Given the description of an element on the screen output the (x, y) to click on. 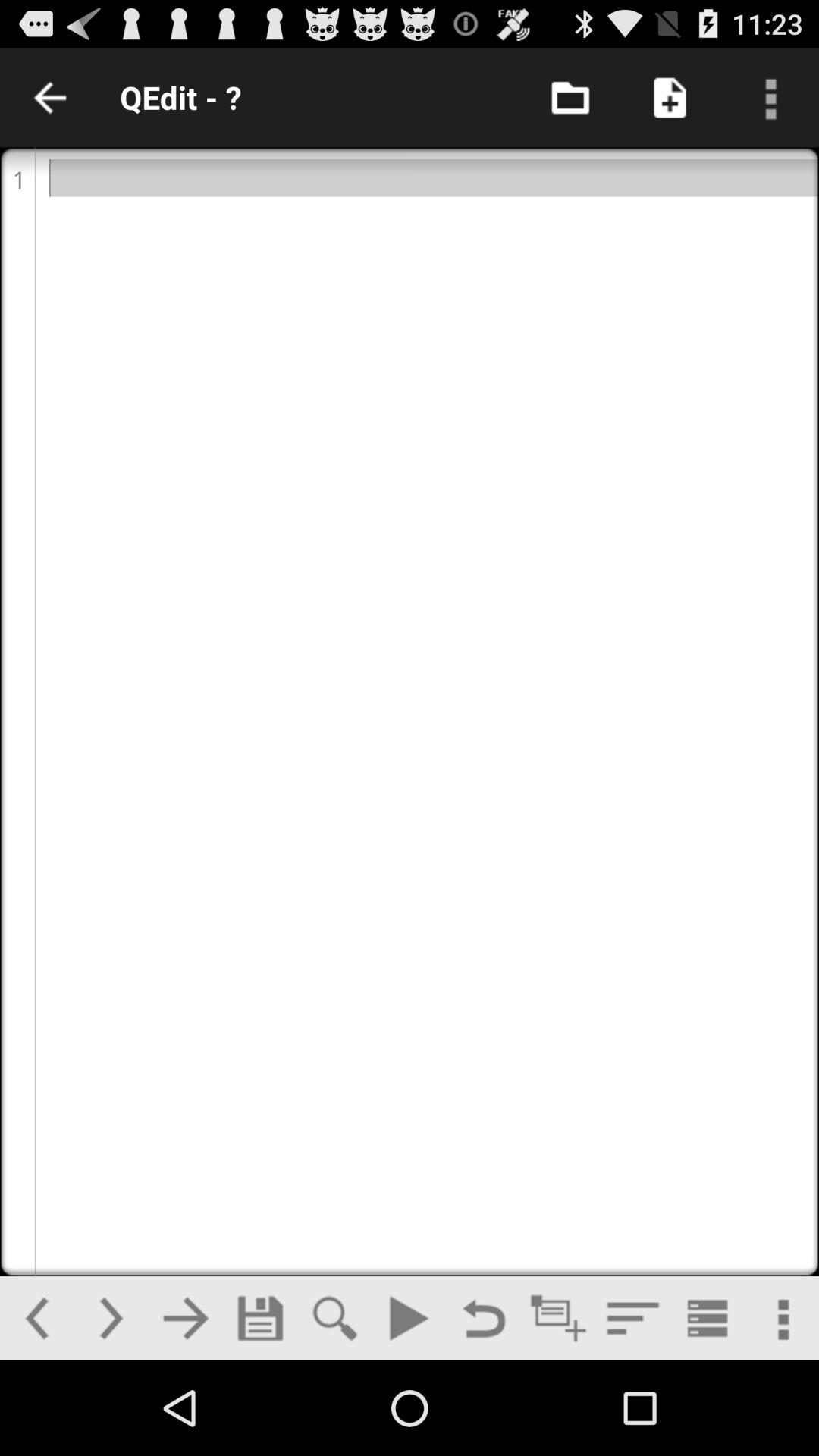
go forward (110, 1318)
